Given the description of an element on the screen output the (x, y) to click on. 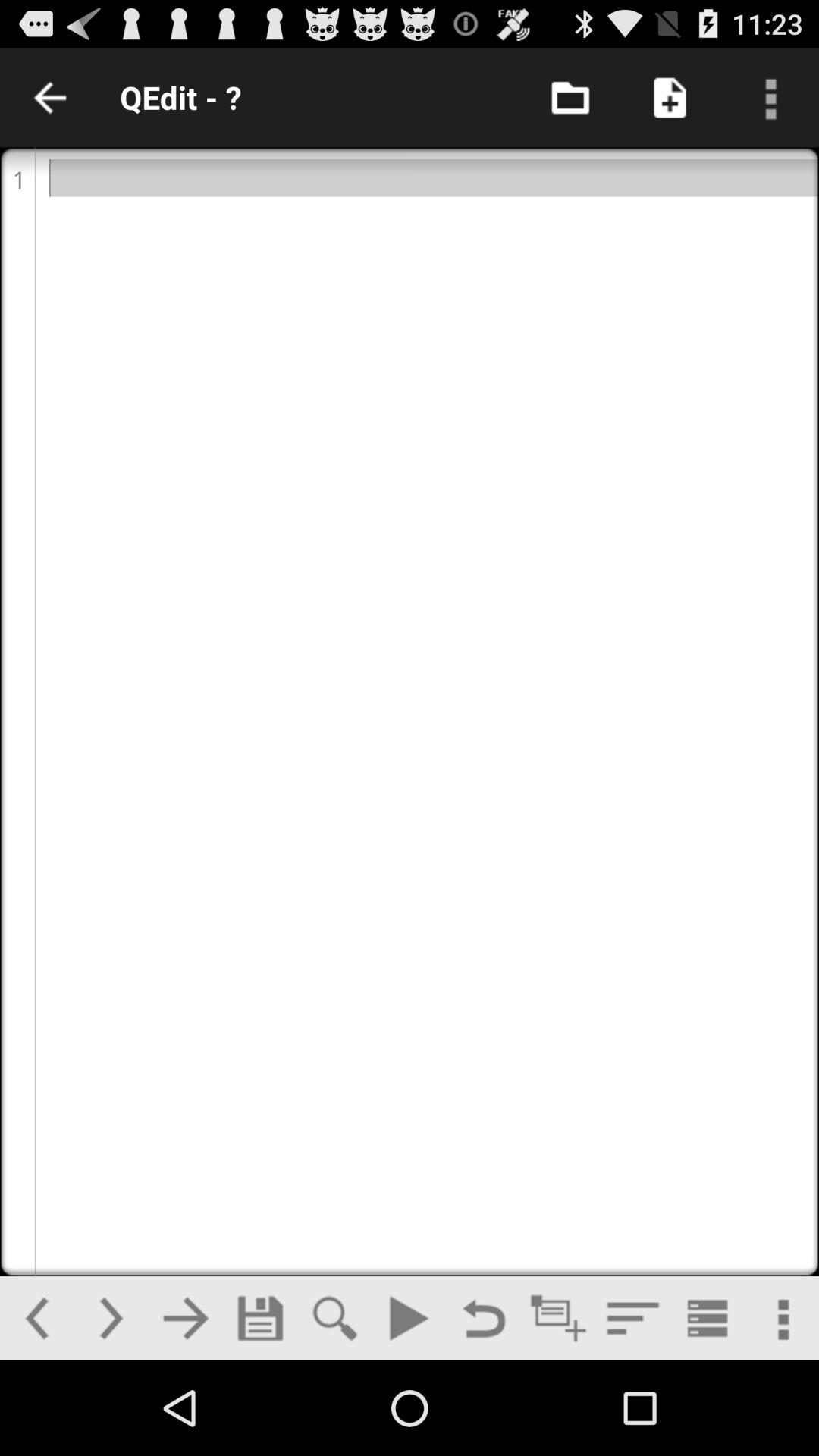
go forward (110, 1318)
